Given the description of an element on the screen output the (x, y) to click on. 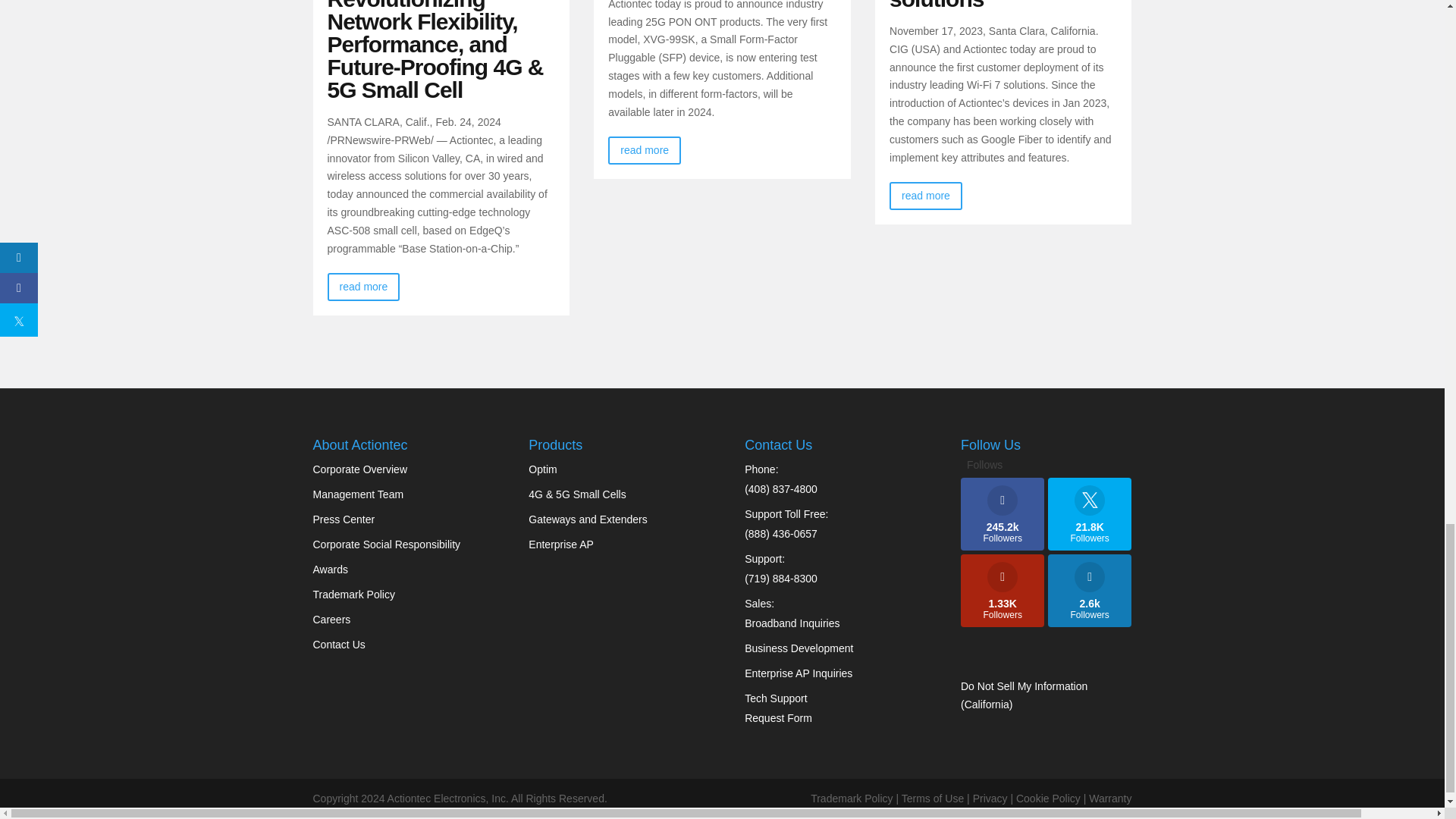
read more (644, 149)
Press Center (343, 519)
read more (363, 286)
Corporate Social Responsibility (386, 544)
Corporate Overview (360, 469)
read more (925, 195)
Management Team (358, 494)
